Given the description of an element on the screen output the (x, y) to click on. 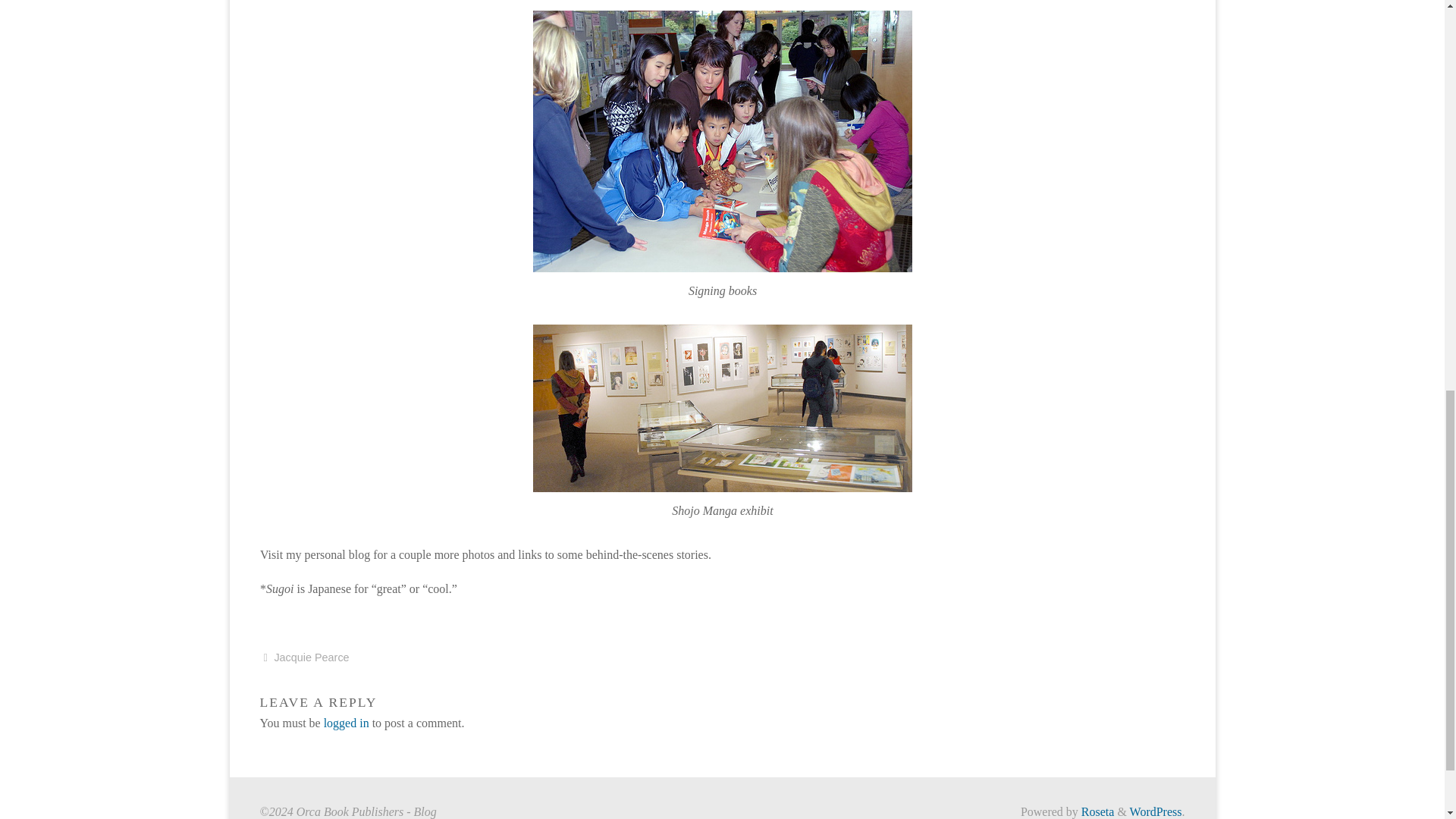
Semantic Personal Publishing Platform (1155, 811)
Roseta WordPress Theme by Cryout Creations (1096, 811)
Jacqui4 (721, 408)
Jacqui3 (721, 140)
